Given the description of an element on the screen output the (x, y) to click on. 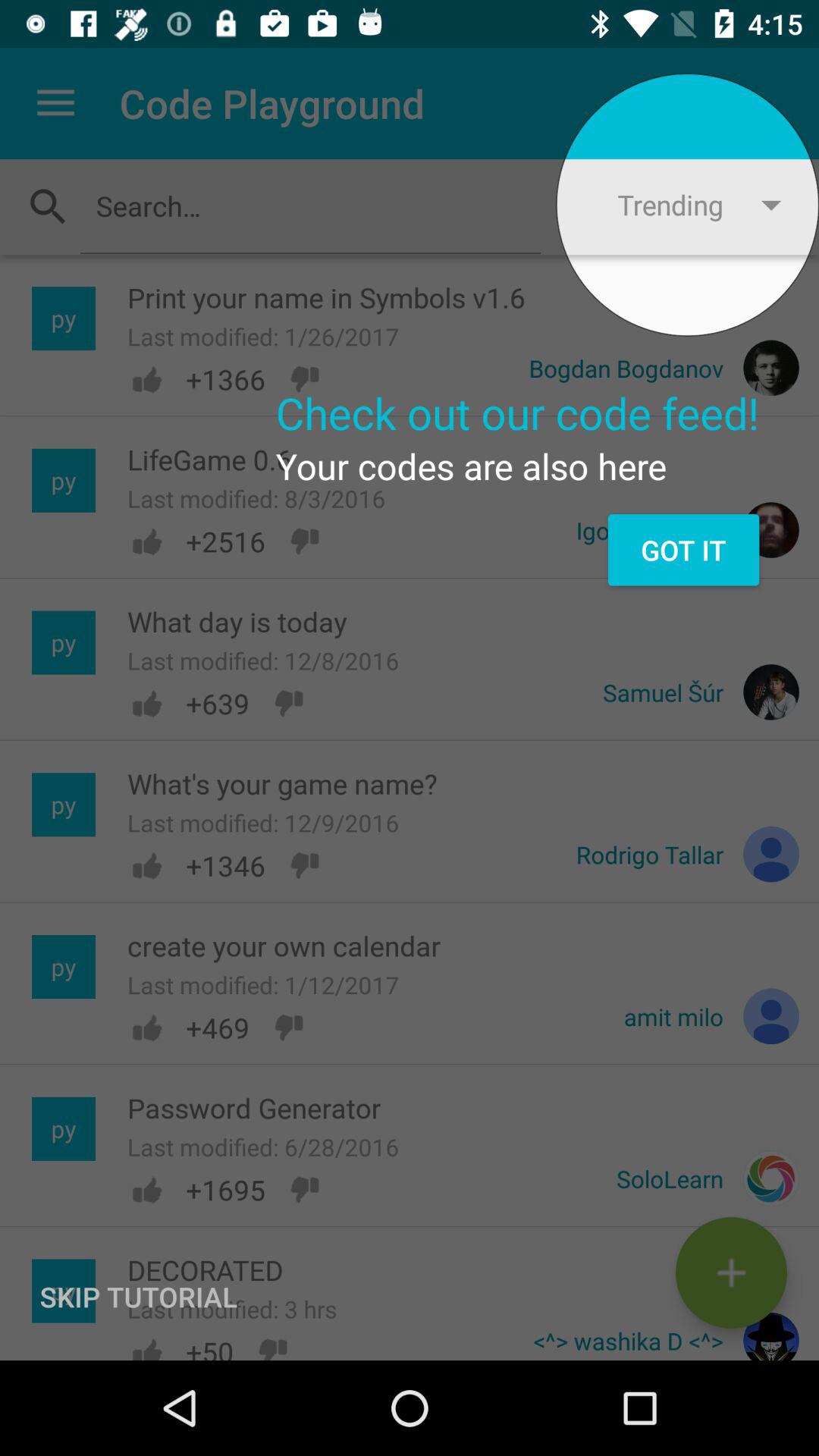
enter text in the search field (310, 205)
